Given the description of an element on the screen output the (x, y) to click on. 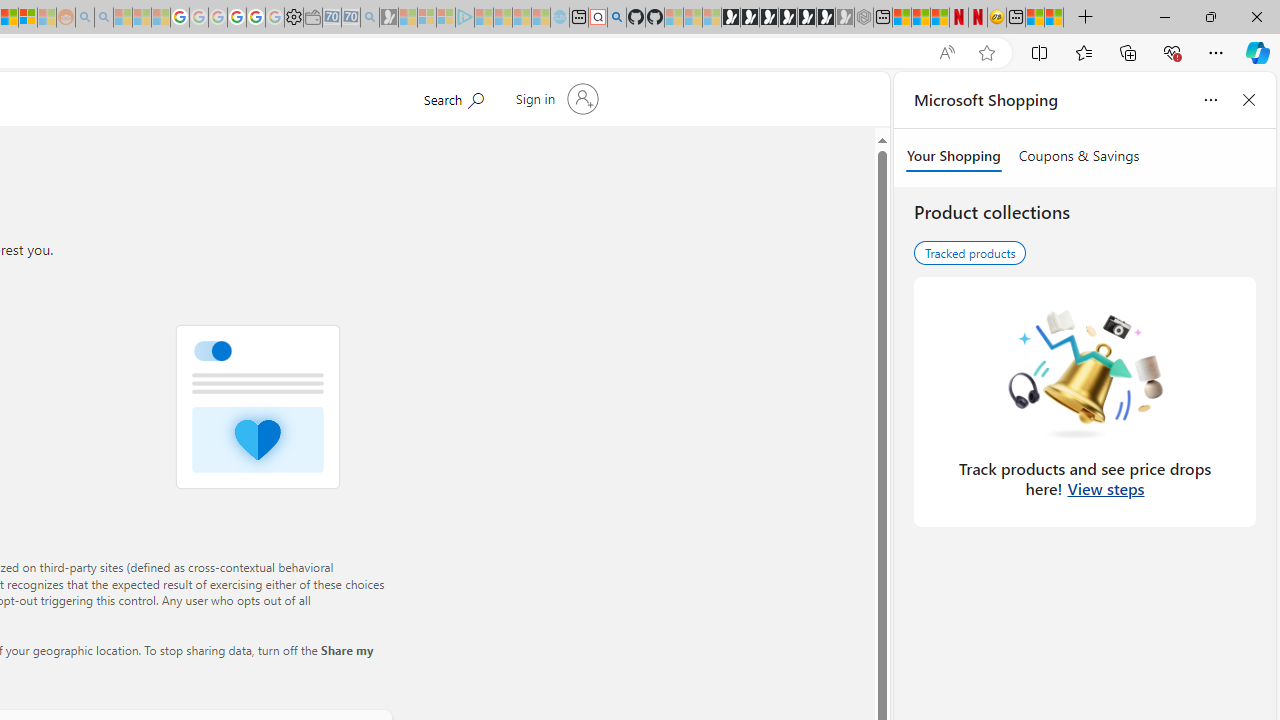
Search Microsoft.com (452, 97)
Wildlife - MSN (1035, 17)
